Given the description of an element on the screen output the (x, y) to click on. 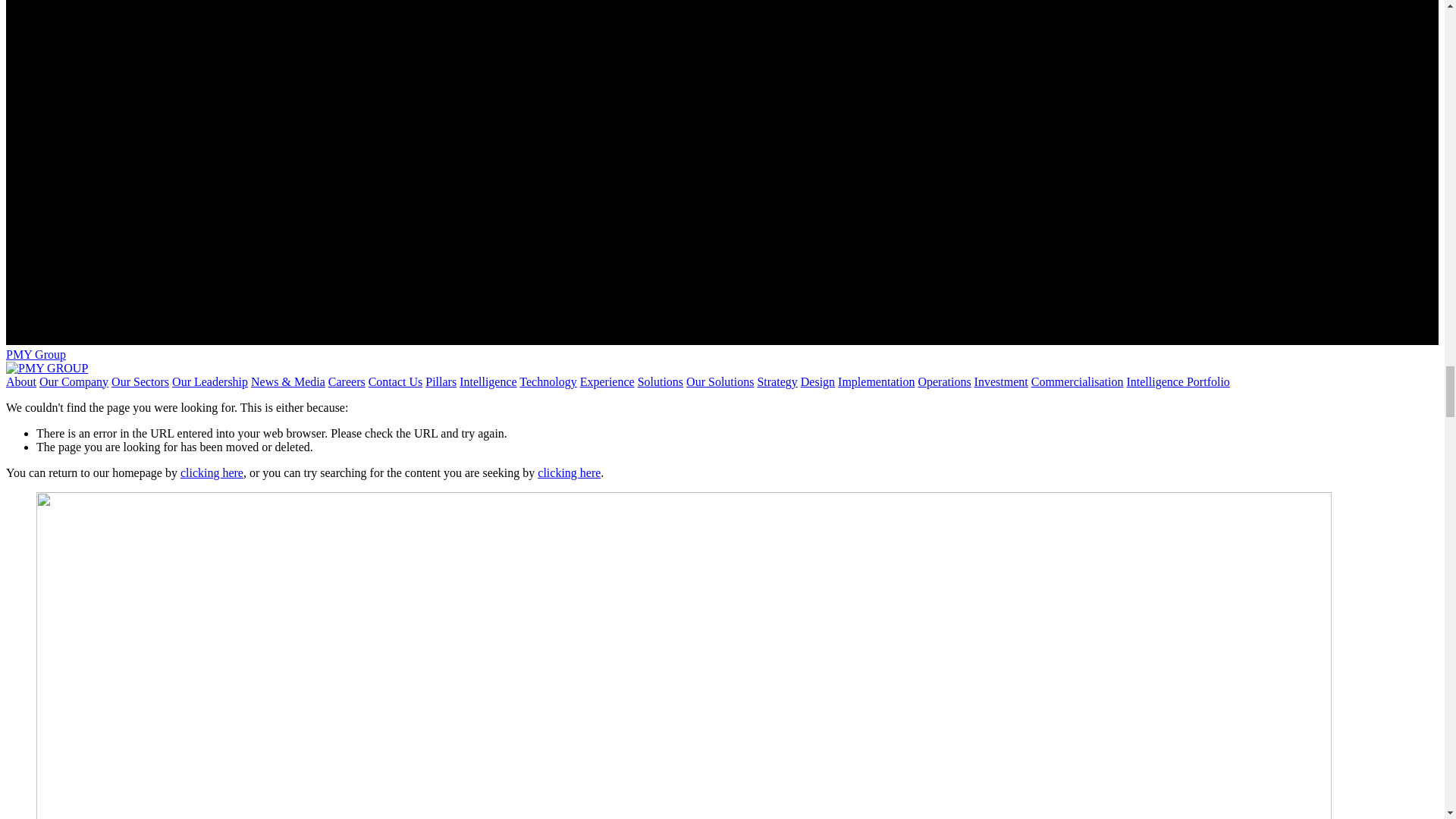
PMY Group (35, 354)
Our Company (73, 381)
Our Sectors (140, 381)
About (20, 381)
Our Leadership (209, 381)
